Given the description of an element on the screen output the (x, y) to click on. 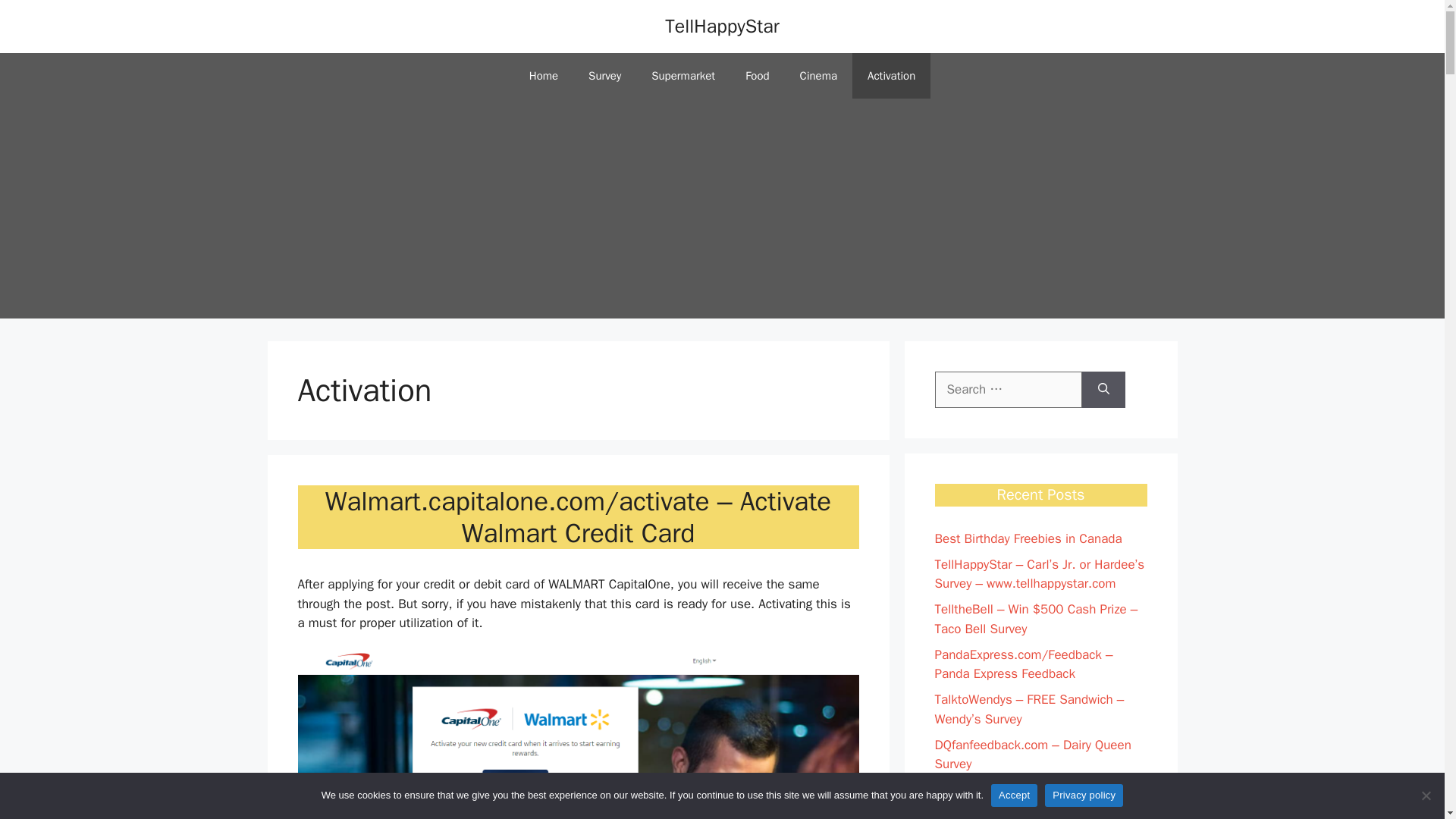
Supermarket (683, 75)
Activation (890, 75)
Cinema (817, 75)
Home (543, 75)
Survey (604, 75)
No (1425, 795)
TellHappyStar (721, 25)
Best Birthday Freebies in Canada (1027, 538)
Food (757, 75)
Search for: (1007, 389)
